Given the description of an element on the screen output the (x, y) to click on. 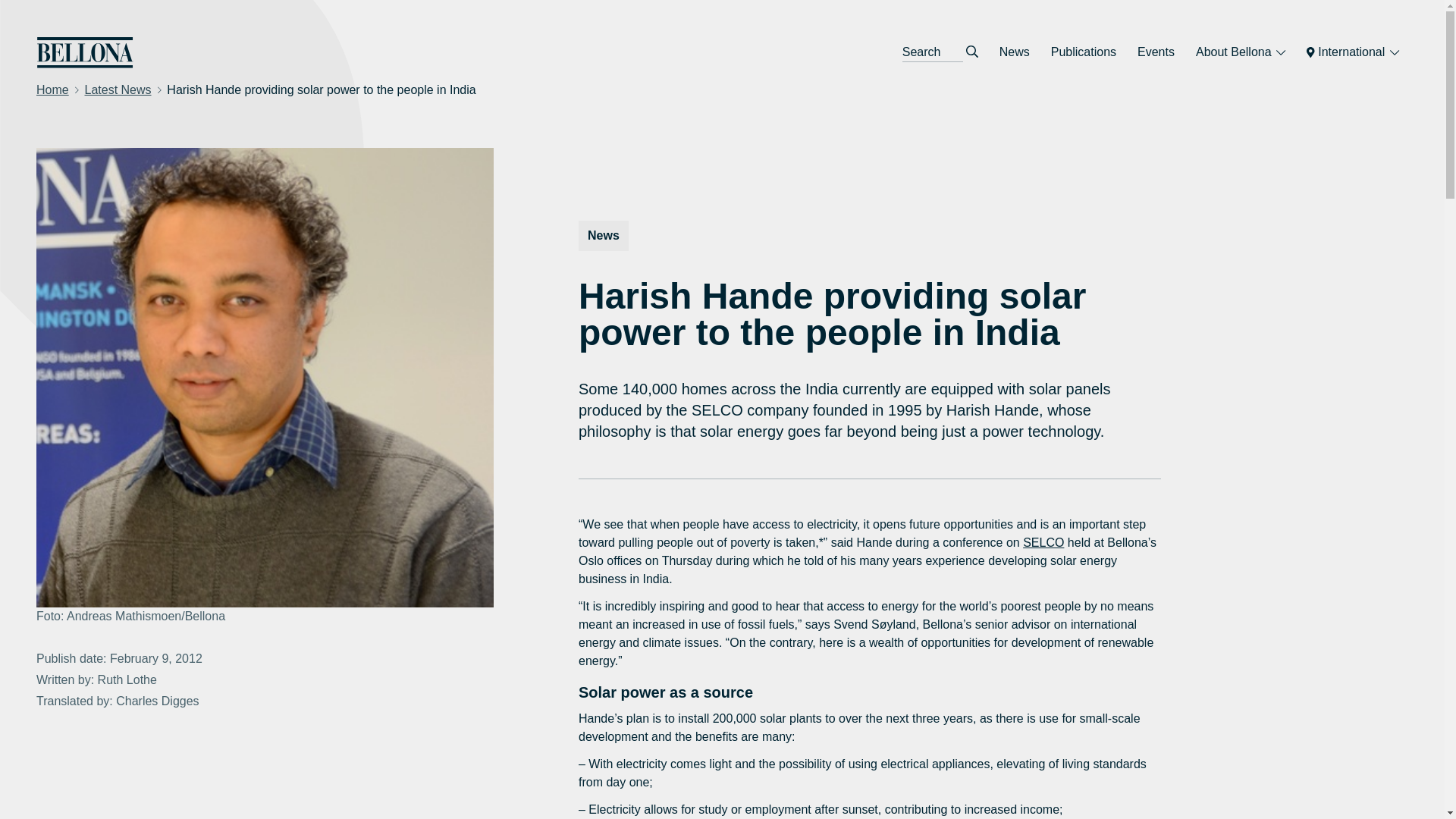
Latest News (117, 90)
Events (1155, 51)
Publications (1083, 51)
International (1352, 51)
About Bellona (1240, 51)
Home (52, 90)
News (1014, 51)
